Given the description of an element on the screen output the (x, y) to click on. 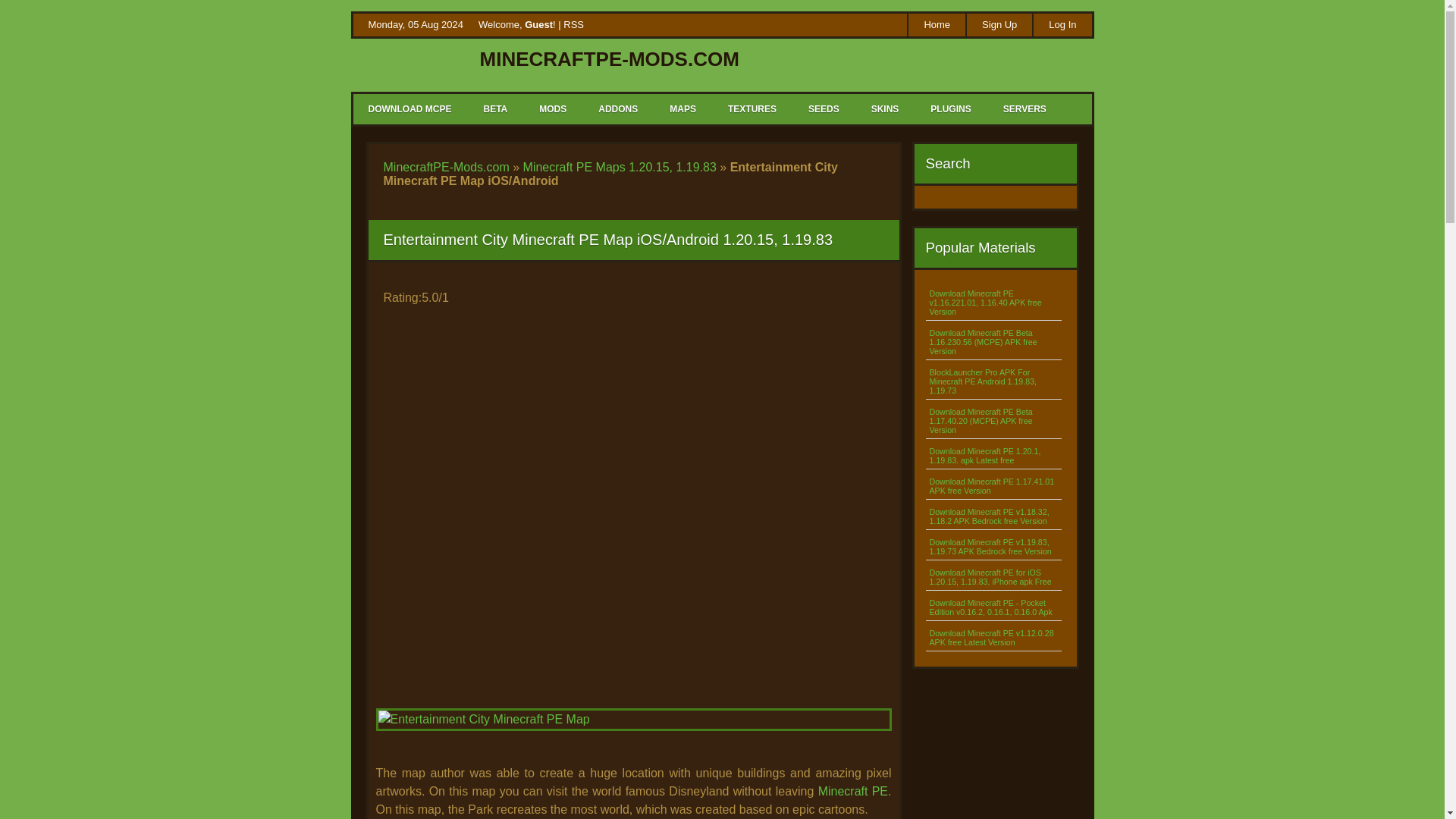
Sign Up (998, 24)
RSS (822, 25)
RSS (573, 24)
MODS (551, 109)
Entertainment City Minecraft PE Map (633, 719)
Click to view in full size... (633, 734)
Log In (1061, 24)
Twitter (845, 25)
DOWNLOAD MCPE (410, 109)
MinecraftPE-Mods.com apk (868, 25)
Log In (1061, 24)
BETA (494, 109)
Home (936, 24)
MAPS (681, 109)
Sign Up (998, 24)
